Given the description of an element on the screen output the (x, y) to click on. 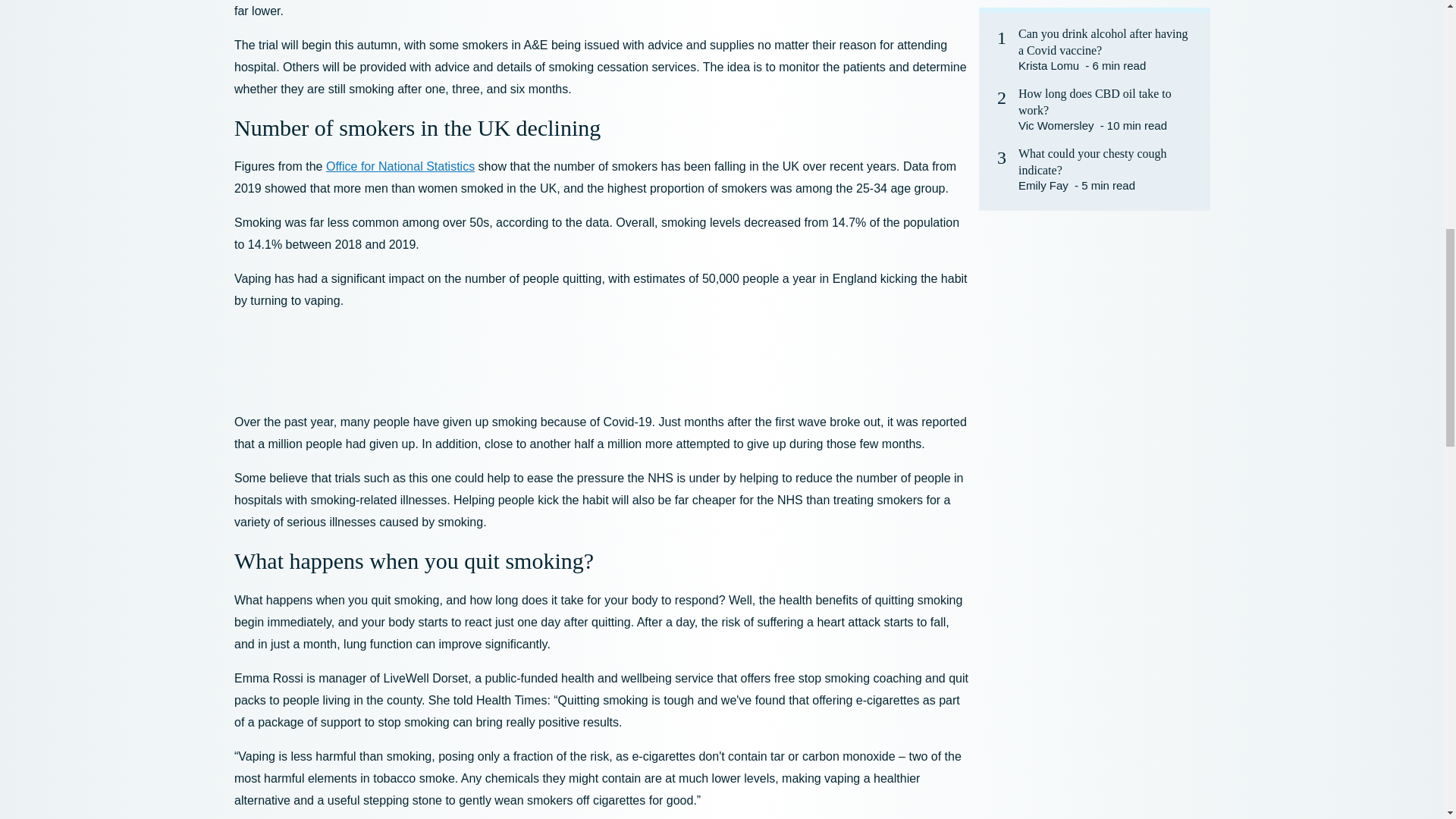
Office for National Statistics (400, 165)
